Given the description of an element on the screen output the (x, y) to click on. 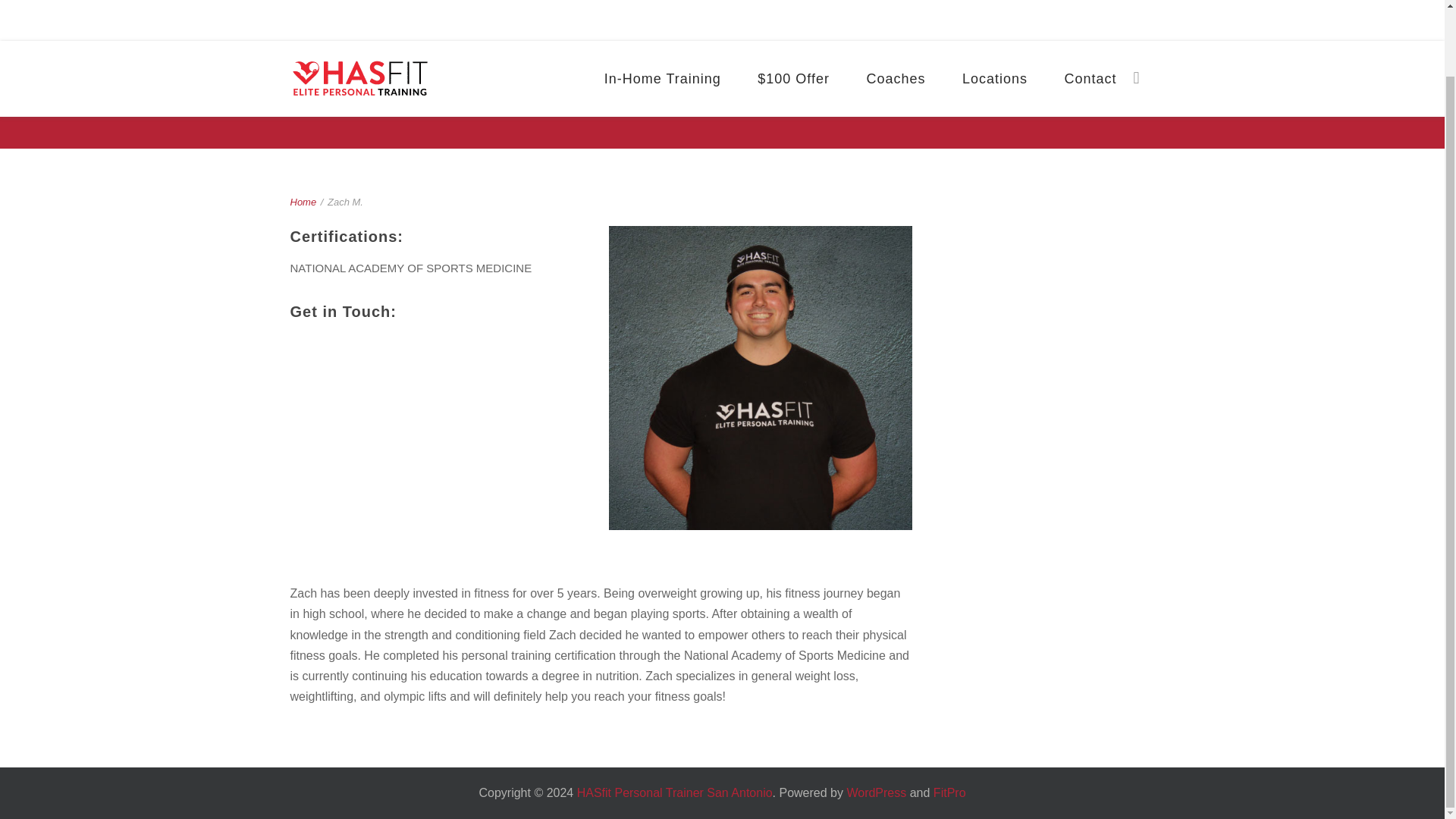
HASfit Personal Trainer San Antonio (674, 792)
Home (302, 202)
Powered by WordPress (875, 792)
Coaches (895, 9)
FitPro (949, 792)
FitPro (949, 792)
HASfit Personal Trainer San Antonio (674, 792)
In-Home Training (663, 9)
HASfit Personal Trainer San Antonio (358, 16)
Locations (993, 9)
Contact (1089, 9)
WordPress (875, 792)
